Given the description of an element on the screen output the (x, y) to click on. 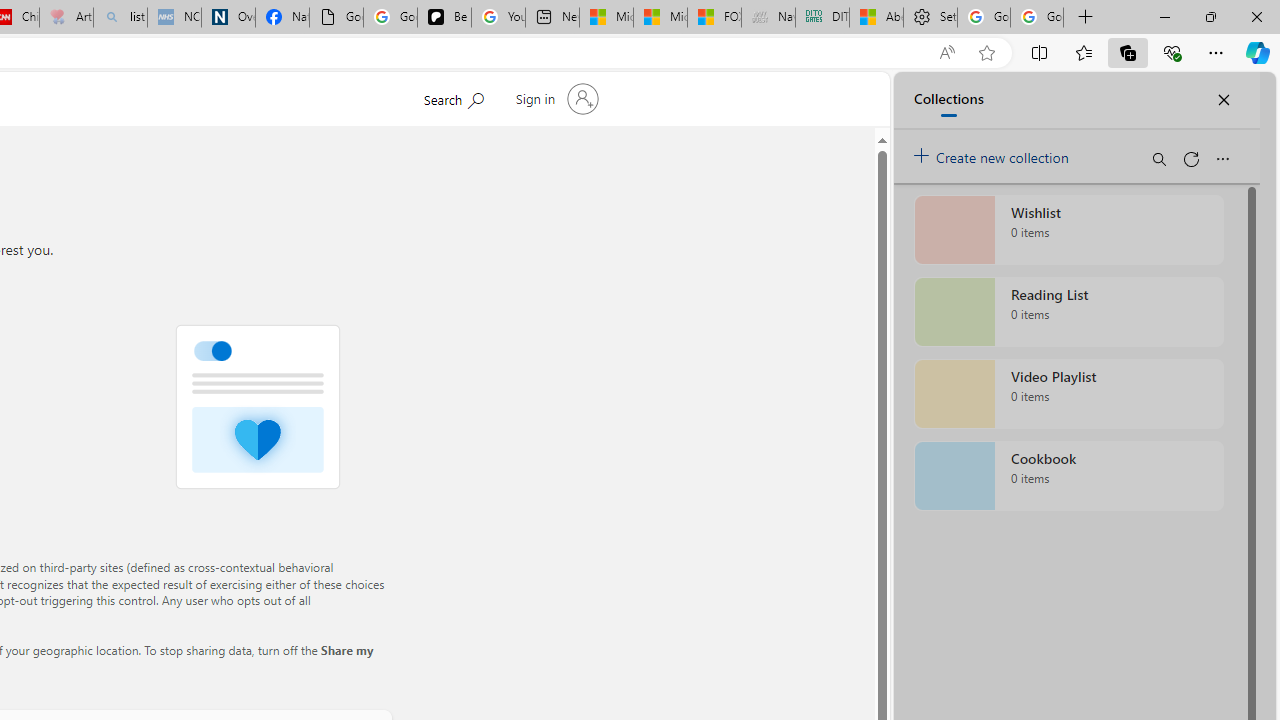
New tab (552, 17)
Aberdeen, Hong Kong SAR hourly forecast | Microsoft Weather (875, 17)
